Given the description of an element on the screen output the (x, y) to click on. 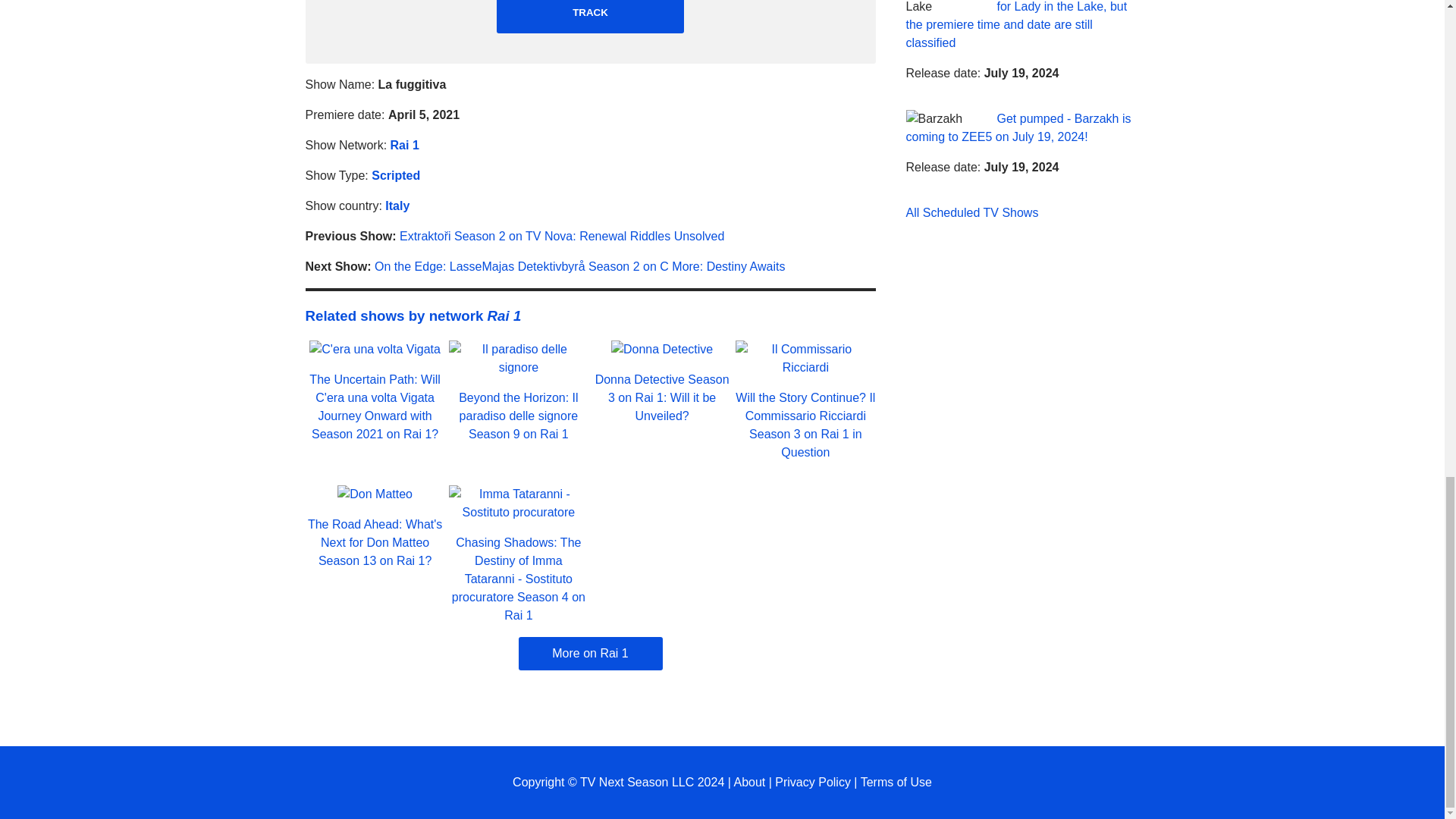
Rai 1 (404, 144)
More on Rai 1 (589, 653)
Italy (397, 205)
TRACK (590, 16)
Scripted (395, 174)
Get pumped - Barzakh is coming to ZEE5 on July 19, 2024! (1018, 127)
Donna Detective Season 3 on Rai 1: Will it be Unveiled? (662, 397)
